Given the description of an element on the screen output the (x, y) to click on. 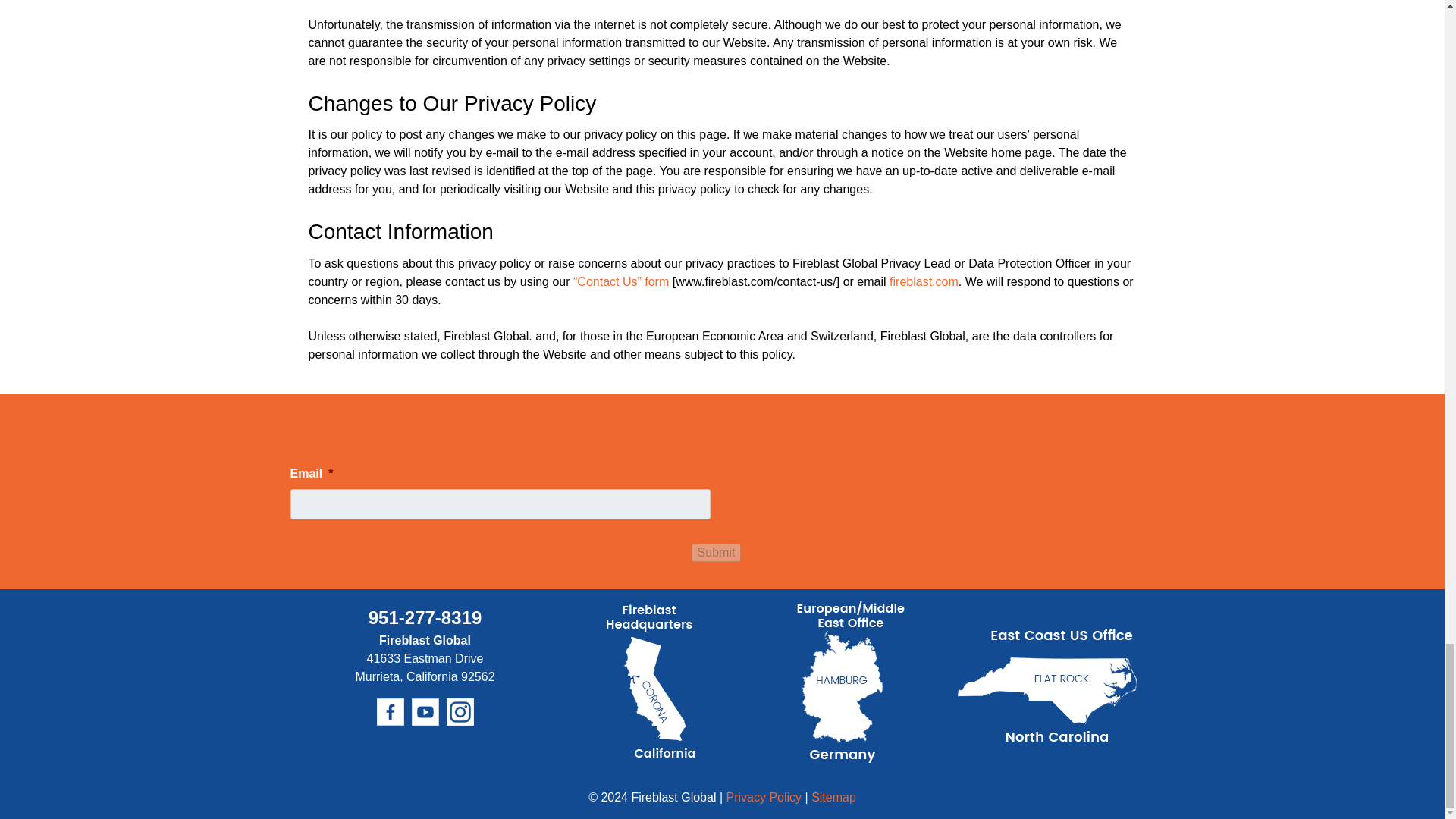
flatrock (1047, 685)
facebook (389, 711)
instagram (459, 711)
hamburg (849, 682)
youtube (424, 711)
Submit (716, 552)
